Given the description of an element on the screen output the (x, y) to click on. 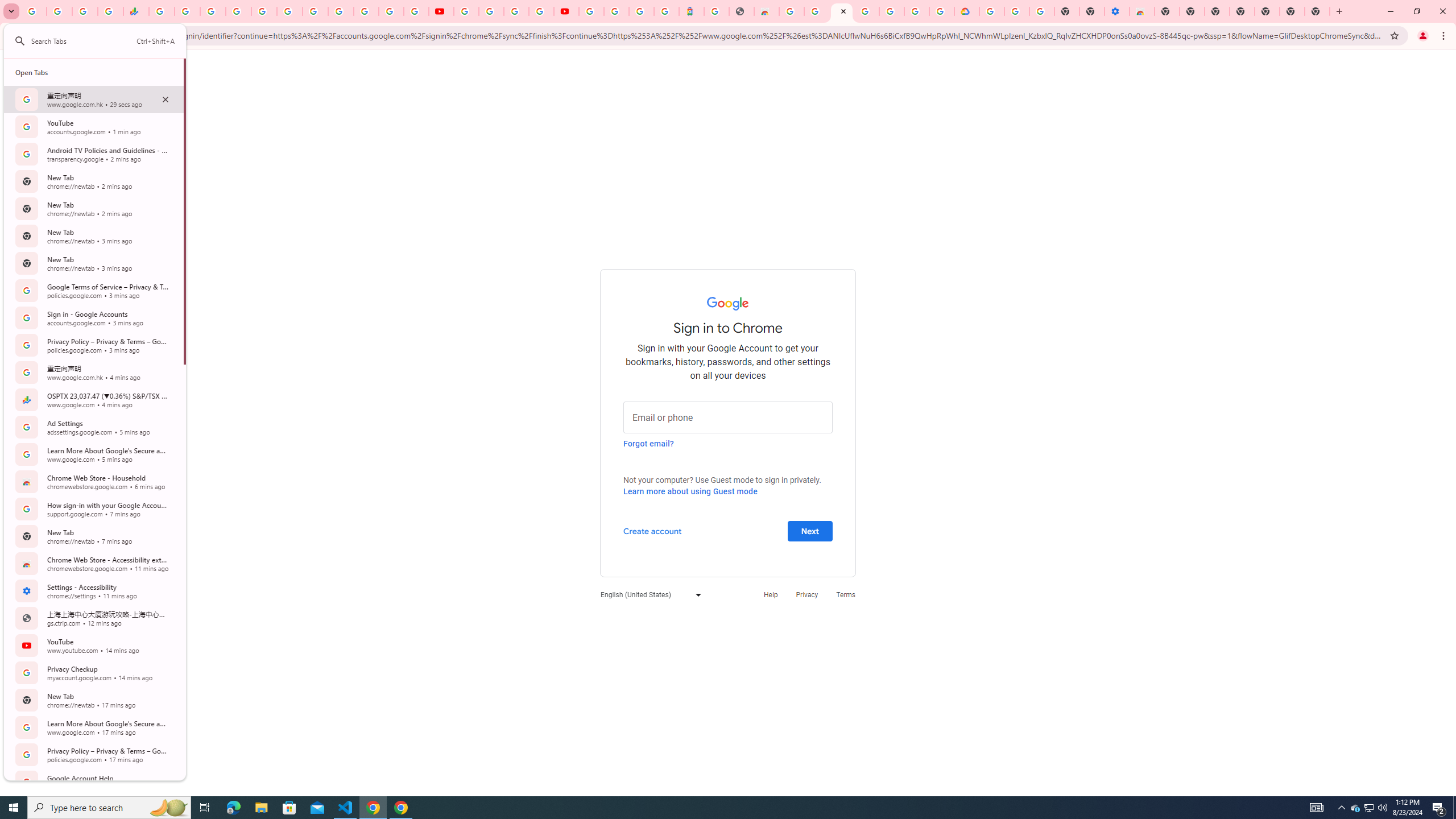
Learn more about using Guest mode (1368, 807)
Task View (689, 491)
New Tab (204, 807)
YouTube (1317, 11)
Ad Settings adssettings.google.com 5 mins ago Open Tab (465, 11)
AutomationID: 4105 (93, 426)
Chrome Web Store - Household (1316, 807)
Sign in - Google Accounts (766, 11)
Type here to search (916, 11)
